Given the description of an element on the screen output the (x, y) to click on. 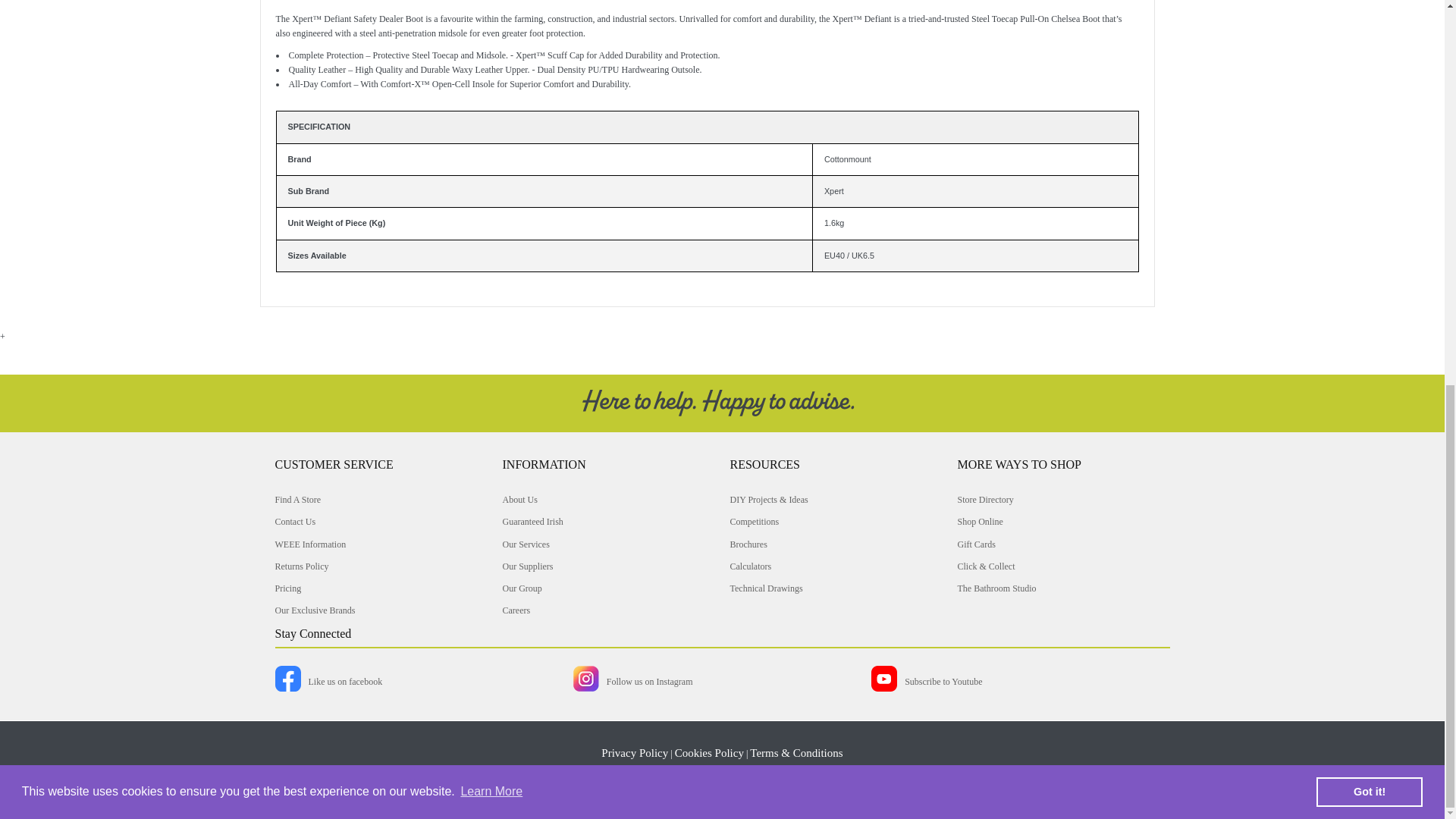
Learn More (491, 65)
Youtube (923, 688)
Instagram (630, 688)
Got it! (1369, 65)
Facebook (326, 688)
